Given the description of an element on the screen output the (x, y) to click on. 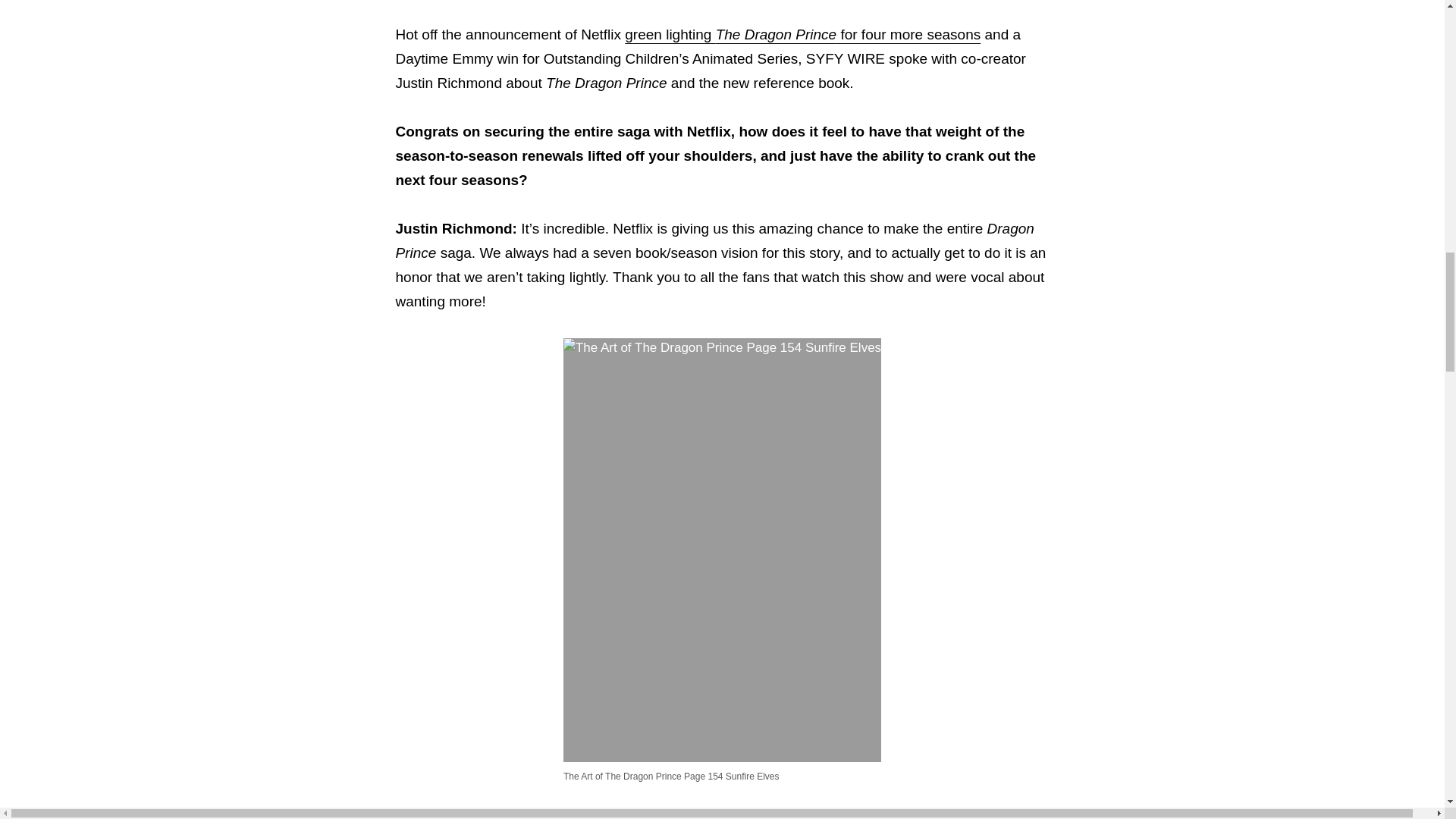
green lighting The Dragon Prince for four more seasons (801, 34)
